Given the description of an element on the screen output the (x, y) to click on. 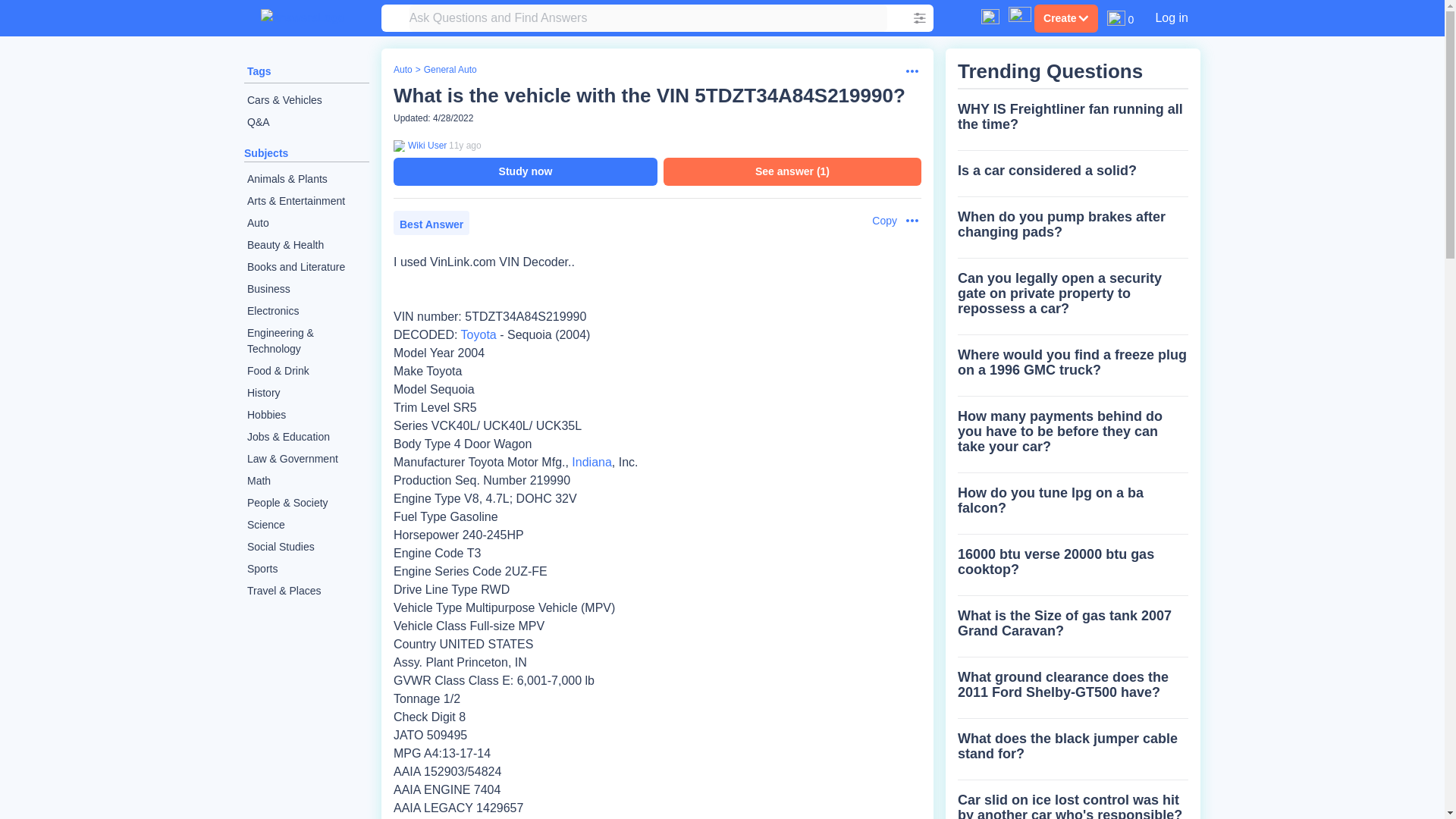
Tags (258, 70)
Create (1065, 18)
Indiana (591, 461)
Hobbies (306, 414)
Science (306, 525)
Sports (306, 568)
Auto (306, 223)
Copy (876, 220)
Study now (525, 171)
What is the vehicle with the VIN 5TDZT34A84S219990? (649, 95)
2013-03-22 18:50:36 (464, 145)
Auto (402, 69)
Subjects (266, 152)
Math (306, 481)
Social Studies (306, 546)
